Given the description of an element on the screen output the (x, y) to click on. 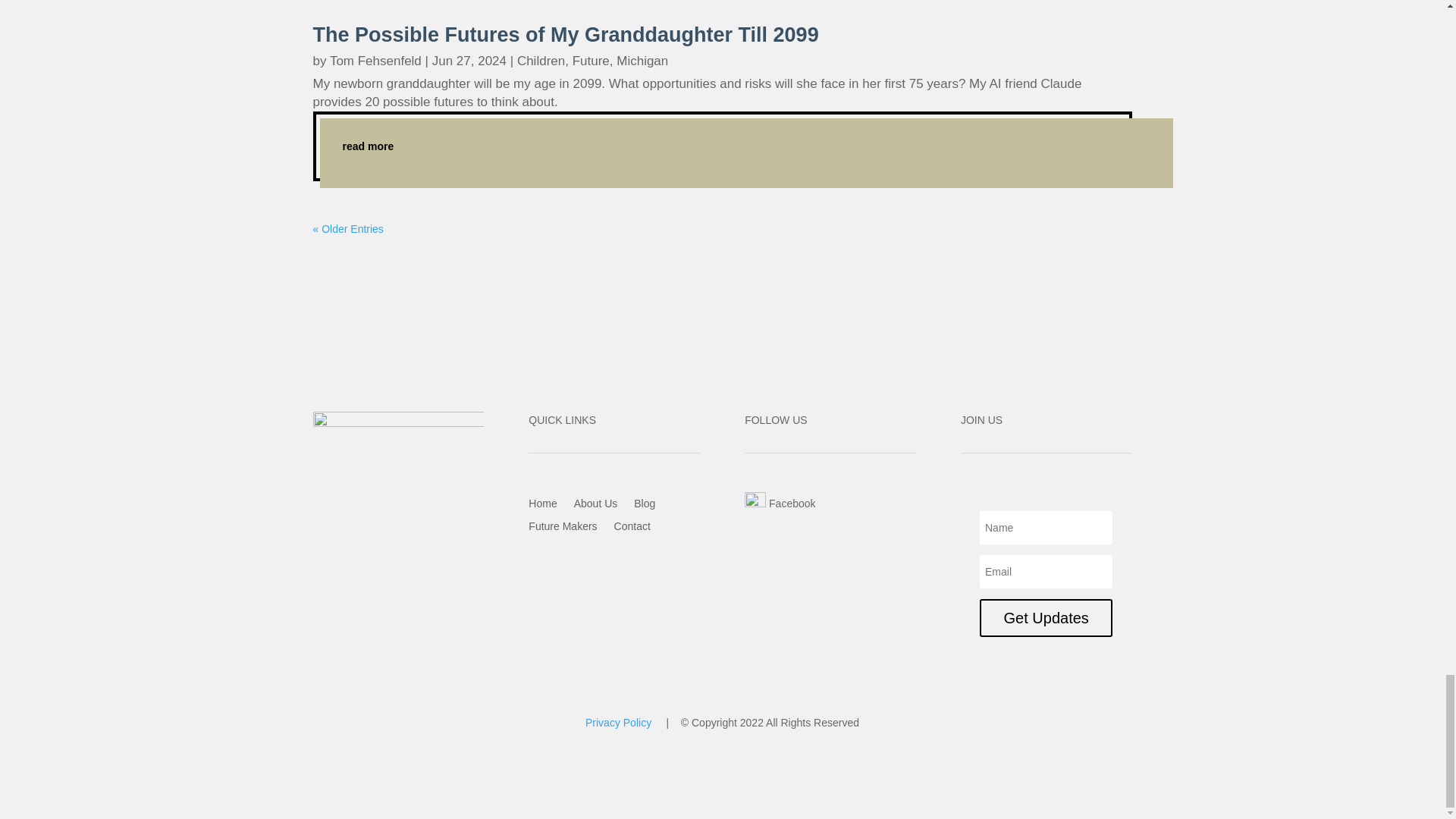
Children (540, 60)
Posts by Tom Fehsenfeld (376, 60)
The Possible Futures of My Granddaughter Till 2099 (565, 34)
Tom Fehsenfeld (376, 60)
Future (591, 60)
Michigan (641, 60)
